Given the description of an element on the screen output the (x, y) to click on. 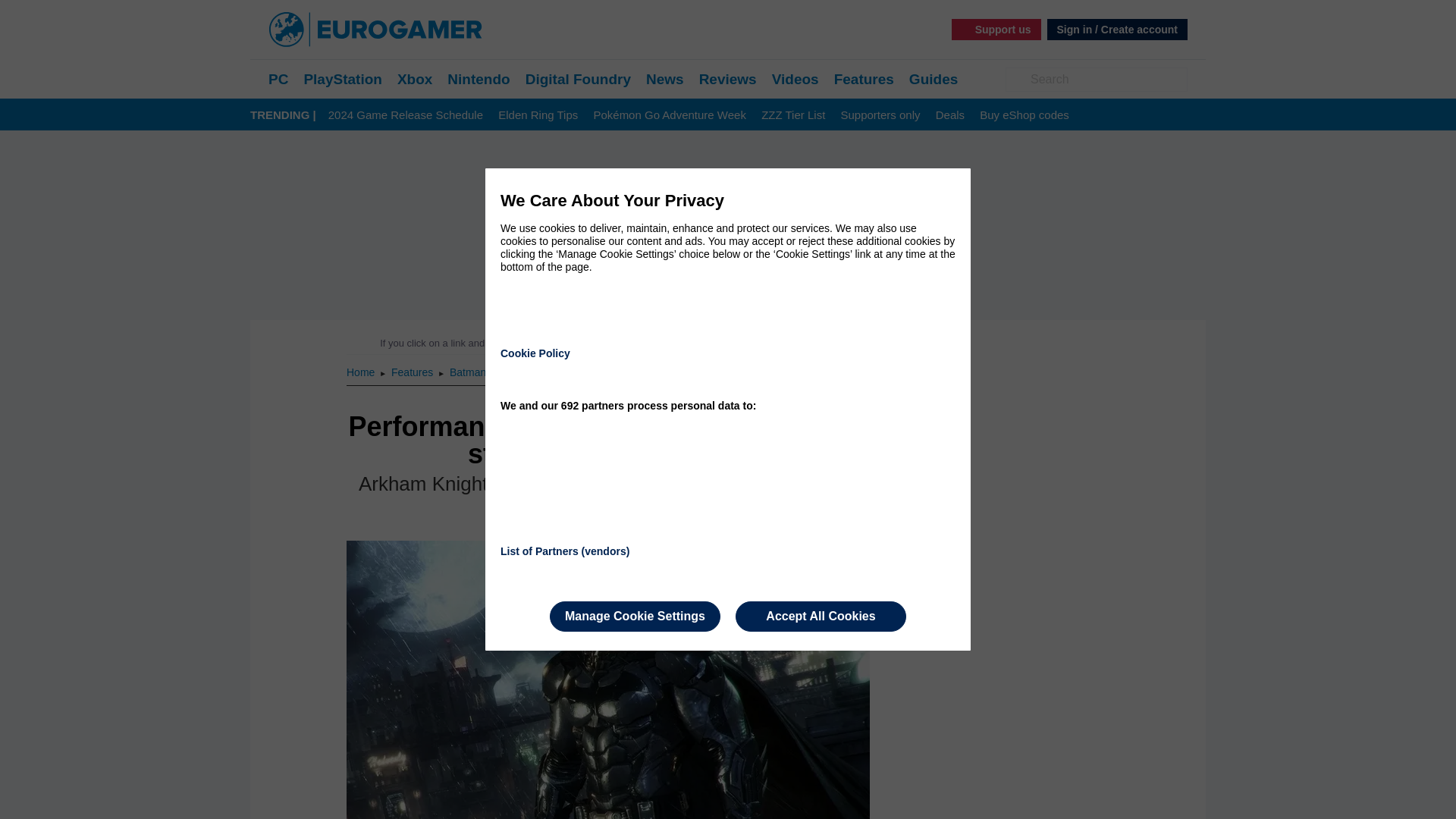
Read our editorial policy (781, 342)
Digital Foundry (577, 78)
Batman: Arkham Knight (504, 372)
Videos (794, 78)
Xbox (414, 78)
Features (863, 78)
Deals (949, 114)
Guides (933, 78)
Elden Ring Tips (537, 114)
Supporters only (880, 114)
